Given the description of an element on the screen output the (x, y) to click on. 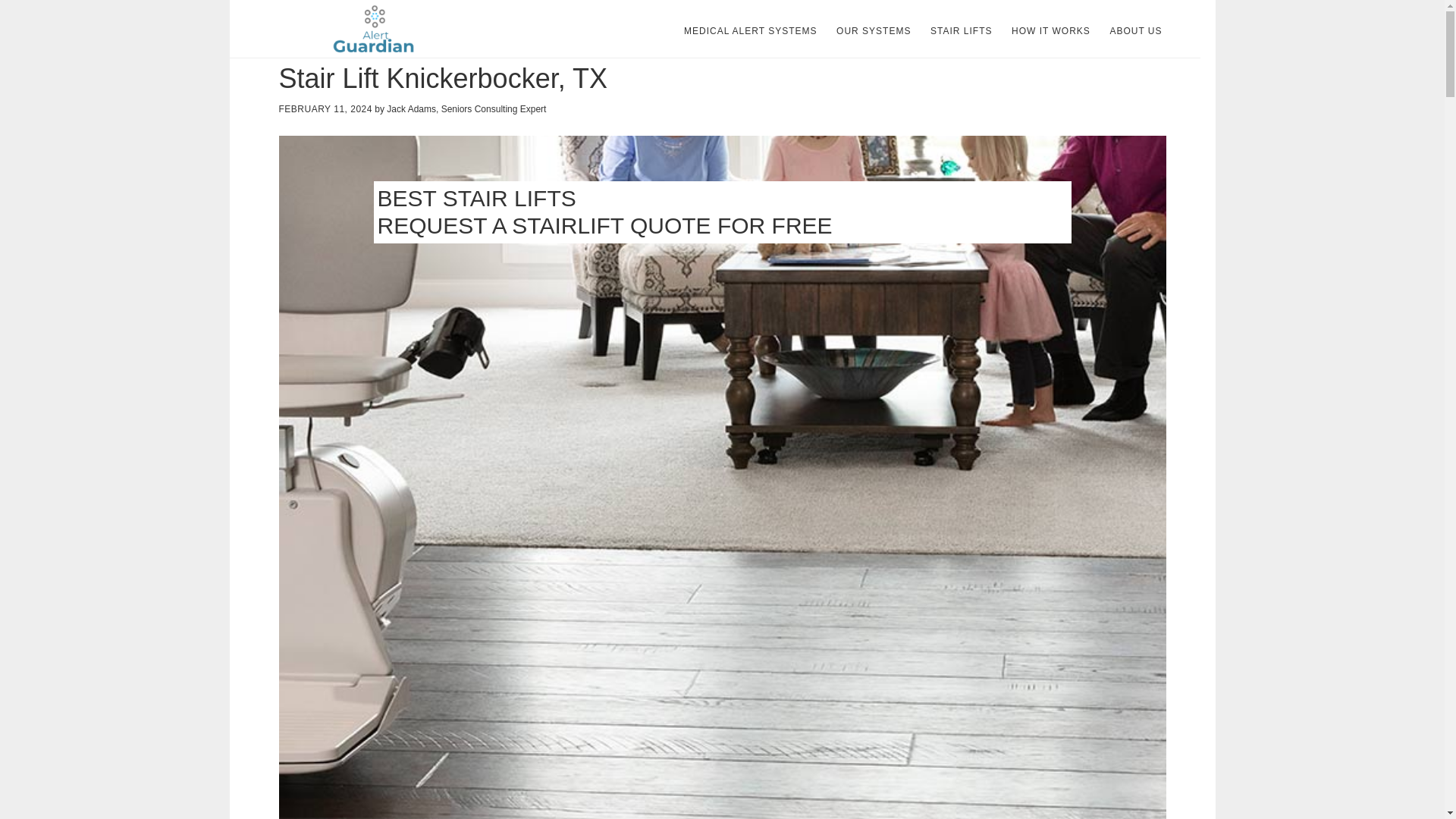
ABOUT US (1135, 30)
HOW IT WORKS (1050, 30)
OUR SYSTEMS (873, 30)
STAIR LIFTS (960, 30)
ALERT GUARDIANS IN TEXAS (372, 28)
MEDICAL ALERT SYSTEMS (751, 30)
